Given the description of an element on the screen output the (x, y) to click on. 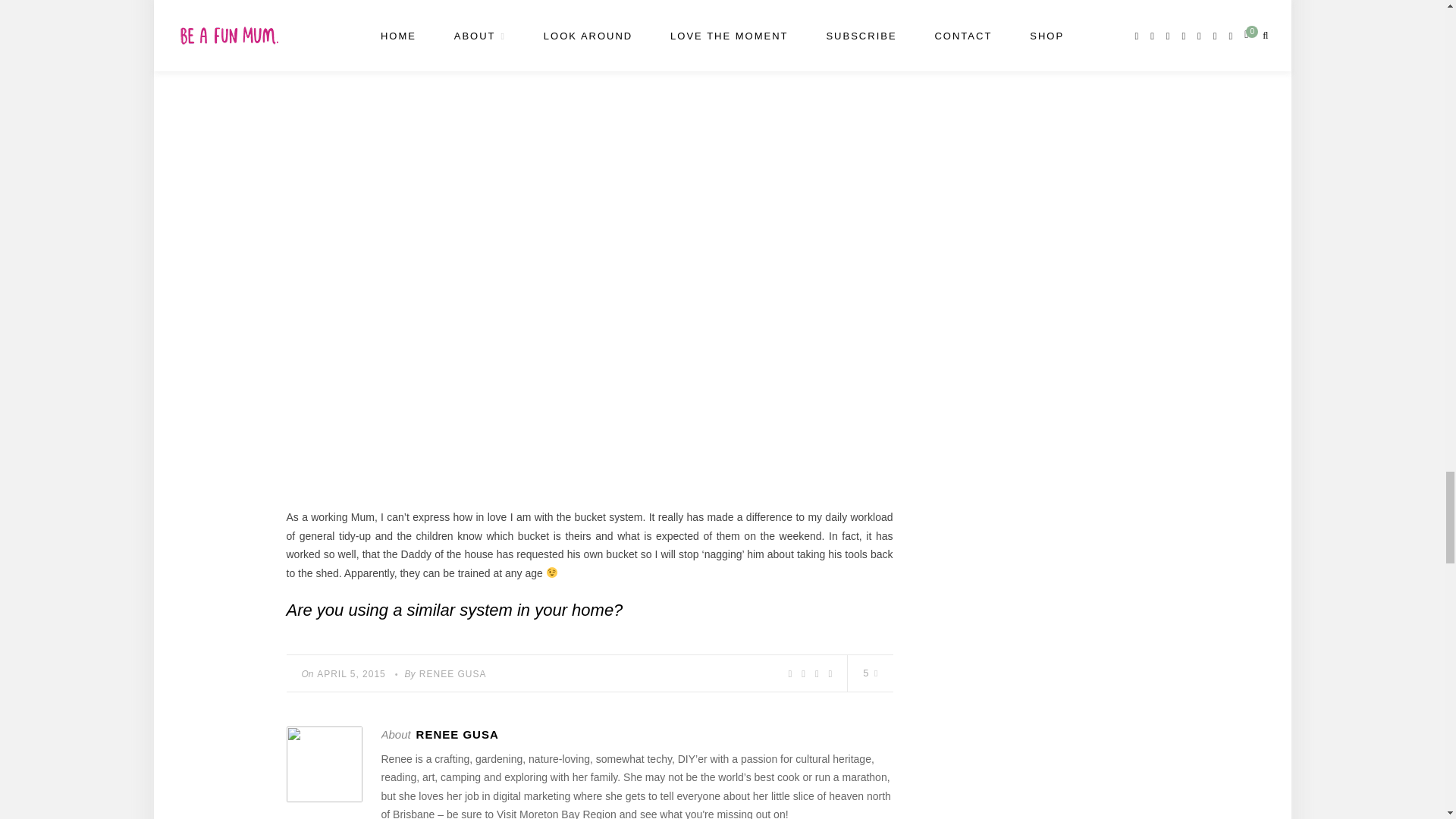
Posts by Renee Gusa (457, 734)
Posts by Renee Gusa (452, 674)
